Given the description of an element on the screen output the (x, y) to click on. 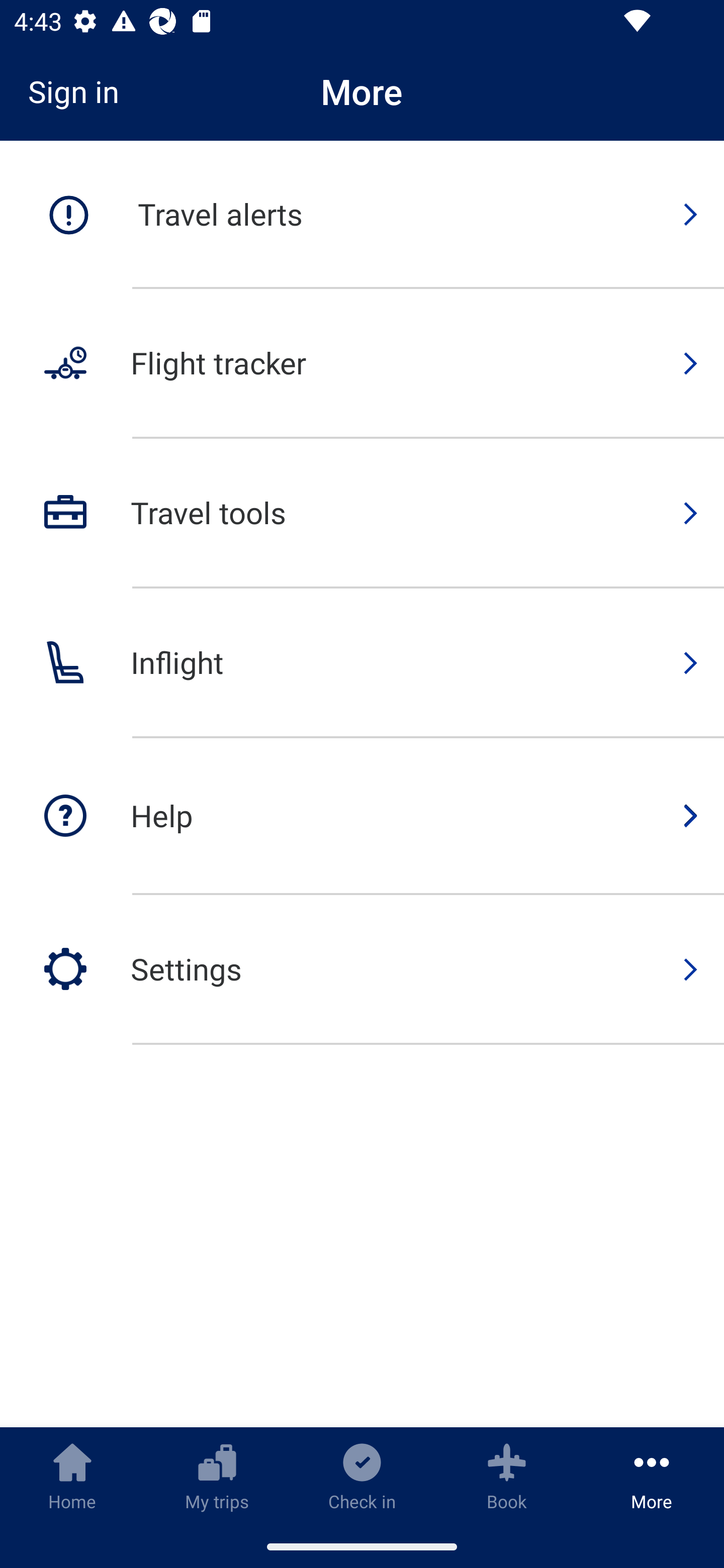
Sign in (80, 91)
Travel alerts (362, 214)
Flight tracker (362, 363)
Travel tools (362, 513)
Inflight (362, 663)
Help (362, 816)
Settings (362, 969)
Home (72, 1475)
My trips (216, 1475)
Check in (361, 1475)
Book (506, 1475)
